Given the description of an element on the screen output the (x, y) to click on. 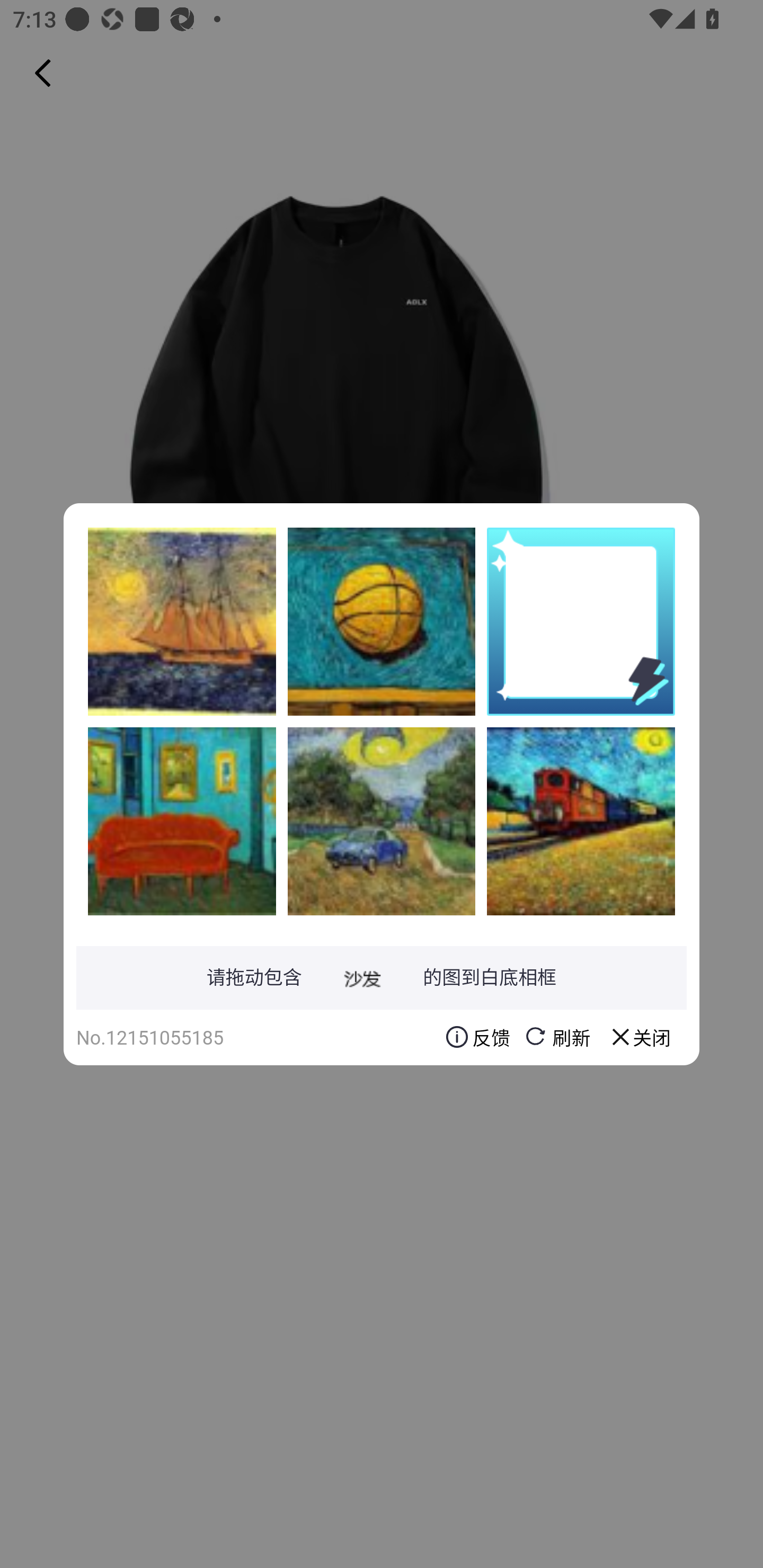
Dxw (381, 621)
